Given the description of an element on the screen output the (x, y) to click on. 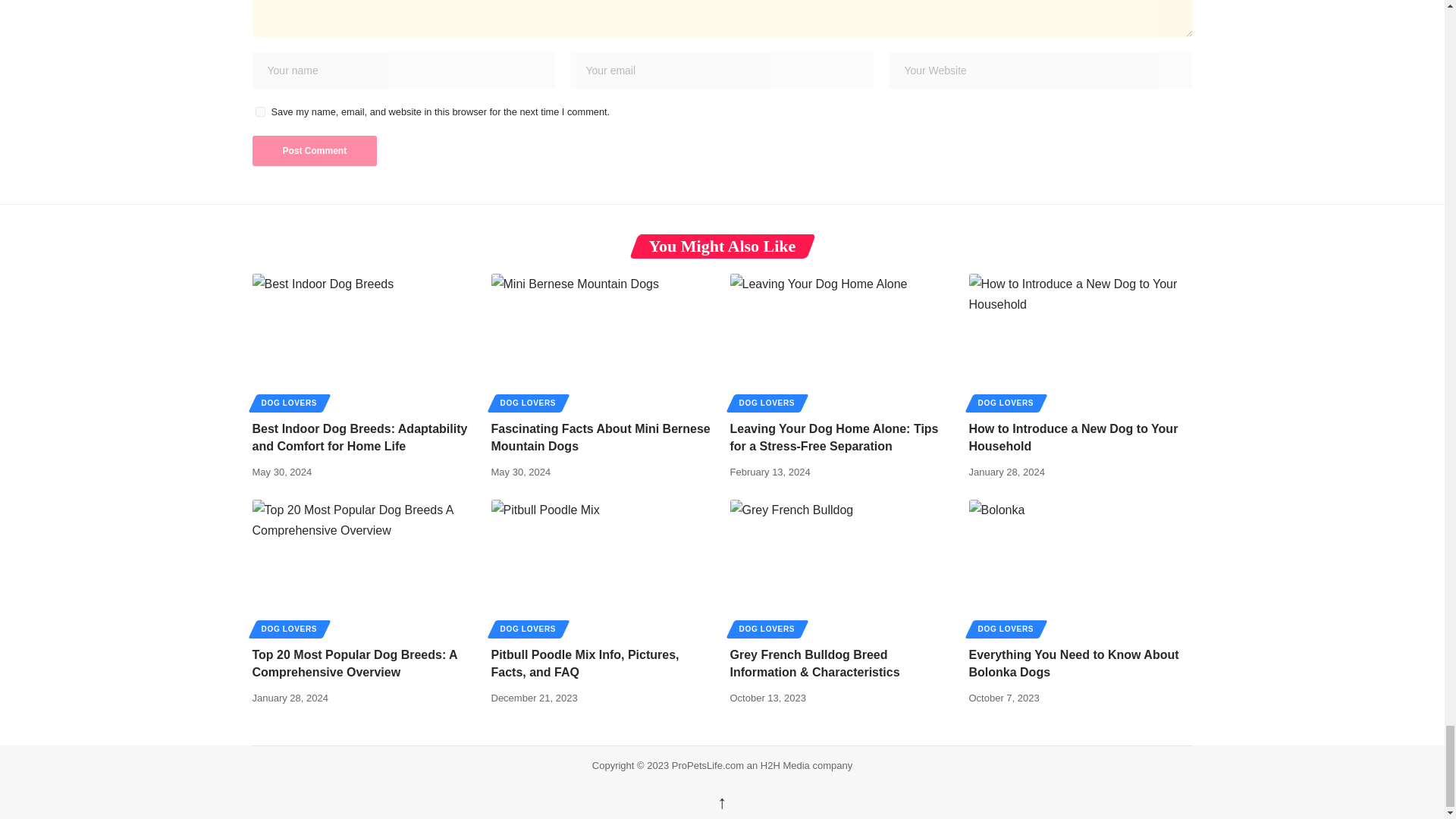
Pitbull Poodle Mix Info, Pictures, Facts, and FAQ (603, 566)
Fascinating Facts About Mini Bernese Mountain Dogs (603, 340)
Top 20 Most Popular Dog Breeds: A Comprehensive Overview (363, 566)
Everything You Need to Know About Bolonka Dogs (1080, 566)
yes (259, 112)
How to Introduce a New Dog to Your Household (1080, 340)
Post Comment (314, 150)
